Given the description of an element on the screen output the (x, y) to click on. 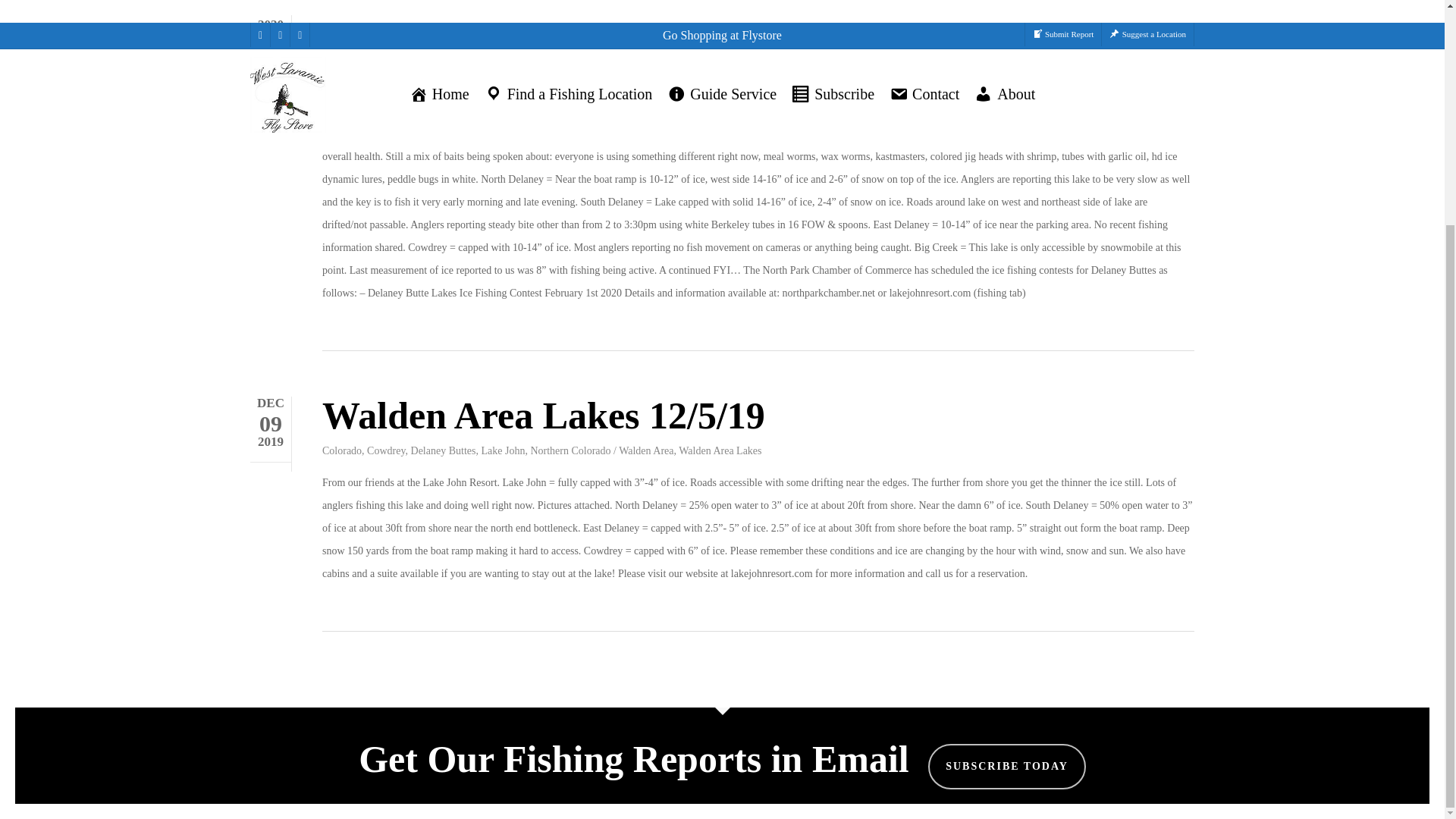
Lake John (502, 33)
Colorado (341, 33)
Delaney Buttes (443, 33)
Cowdrey (385, 33)
Walden Area Lakes (719, 33)
